Given the description of an element on the screen output the (x, y) to click on. 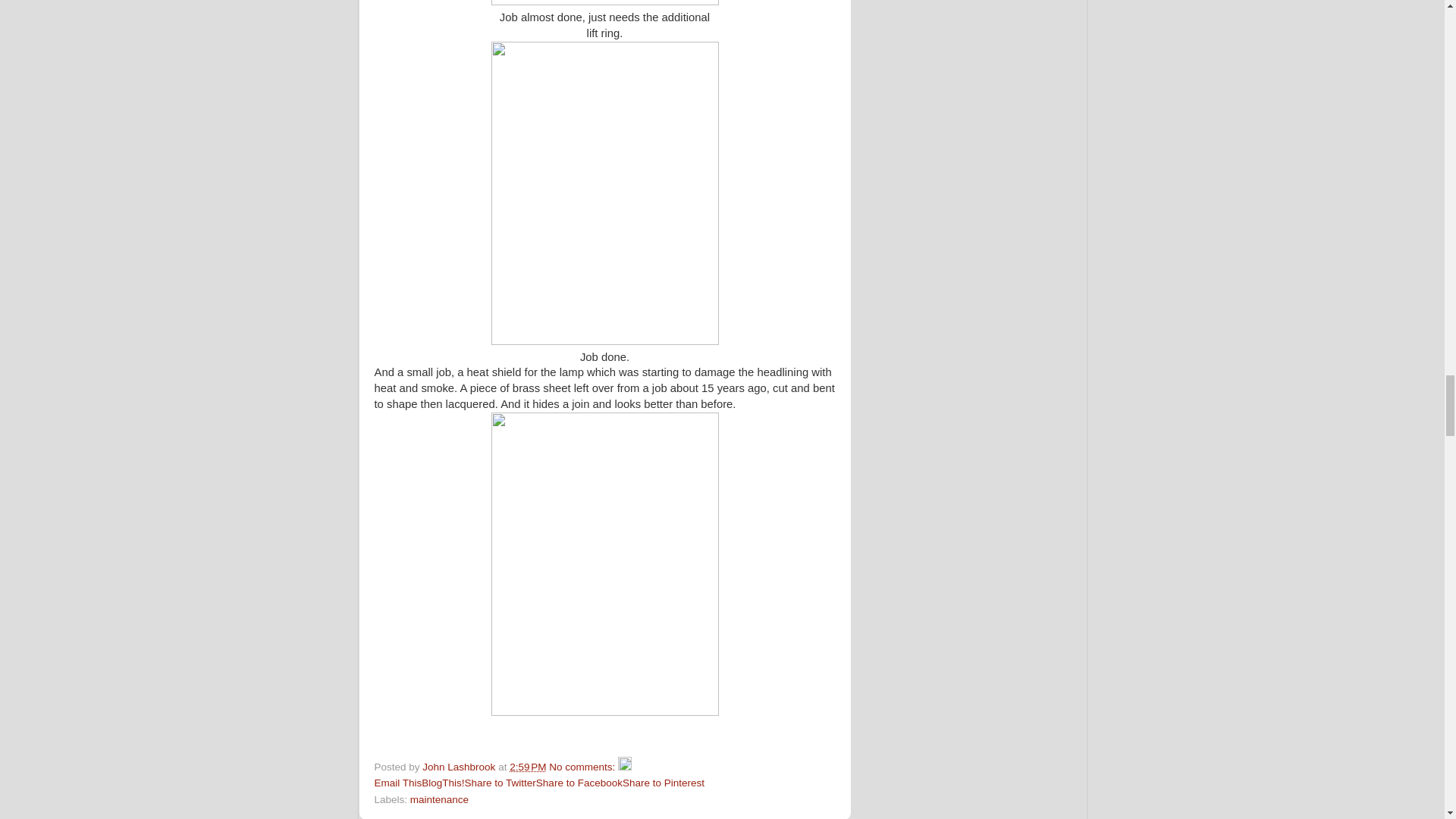
Edit Post (624, 767)
permanent link (527, 767)
Share to Twitter (499, 782)
author profile (459, 767)
Email This (398, 782)
Share to Facebook (579, 782)
BlogThis! (443, 782)
